Given the description of an element on the screen output the (x, y) to click on. 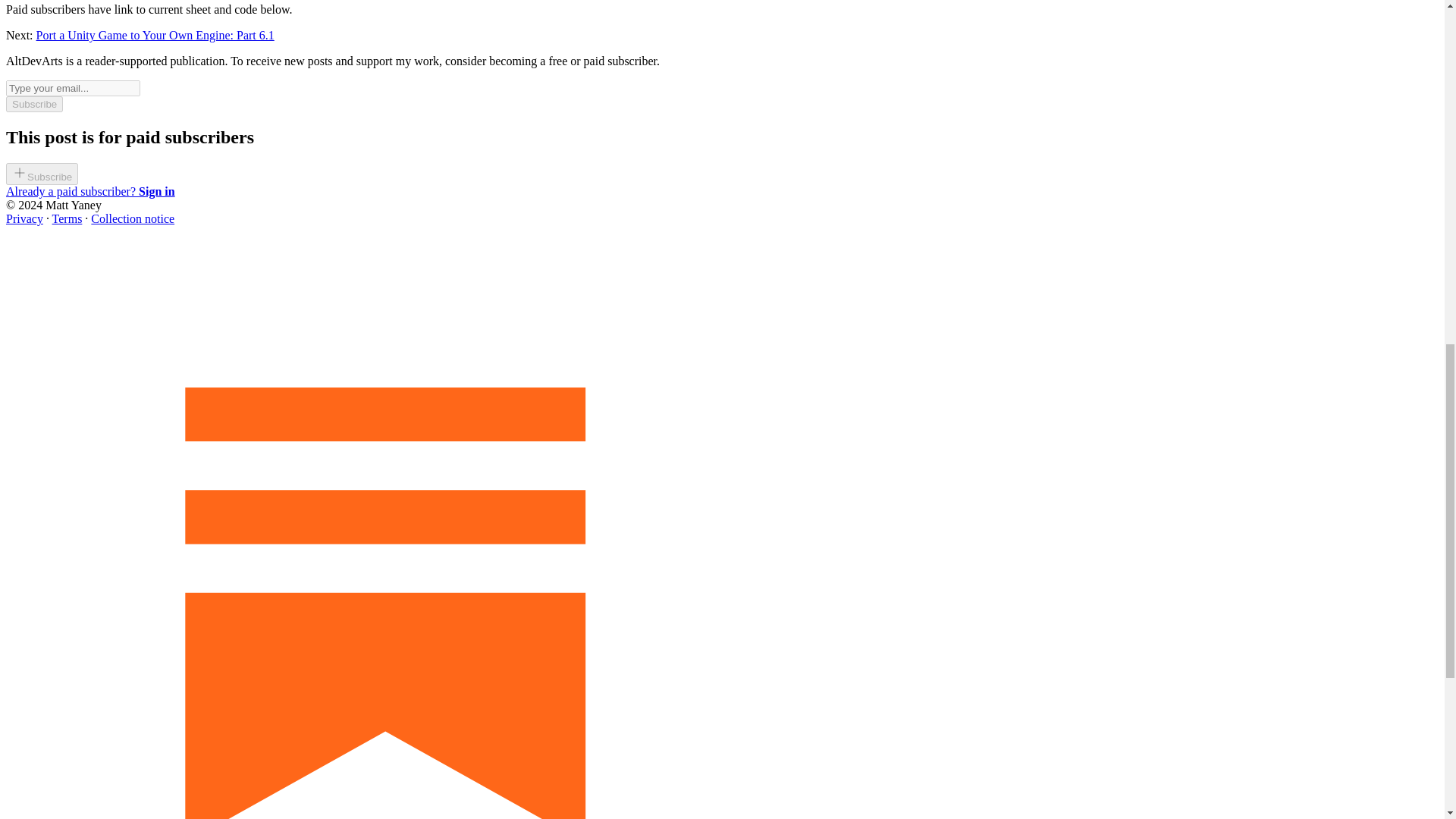
Subscribe (41, 175)
Port a Unity Game to Your Own Engine: Part 6.1 (155, 34)
Already a paid subscriber? Sign in (89, 191)
Privacy (24, 218)
Subscribe (33, 104)
Subscribe (41, 173)
Terms (67, 218)
Collection notice (132, 218)
